Given the description of an element on the screen output the (x, y) to click on. 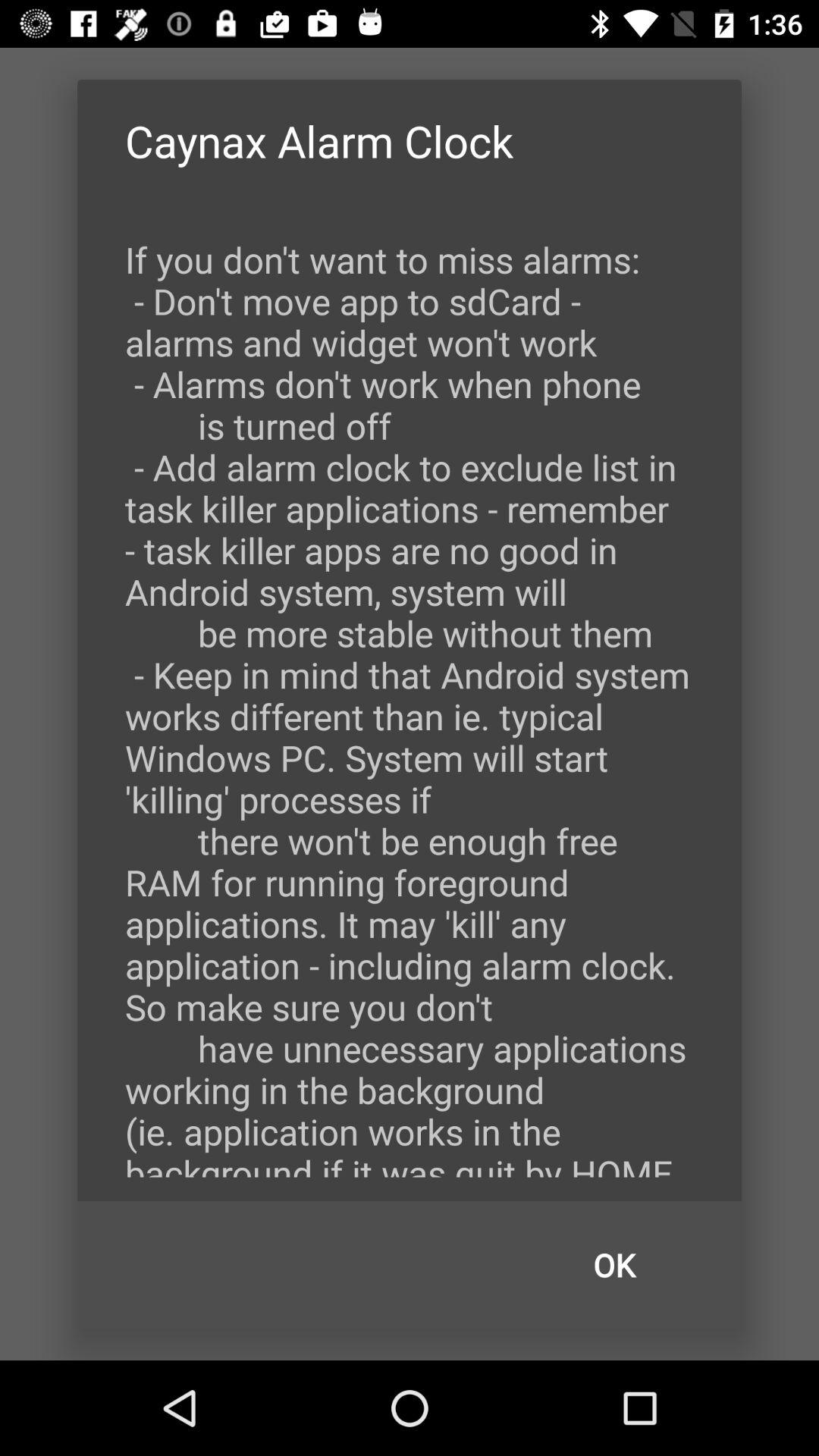
open item at the bottom right corner (613, 1264)
